Given the description of an element on the screen output the (x, y) to click on. 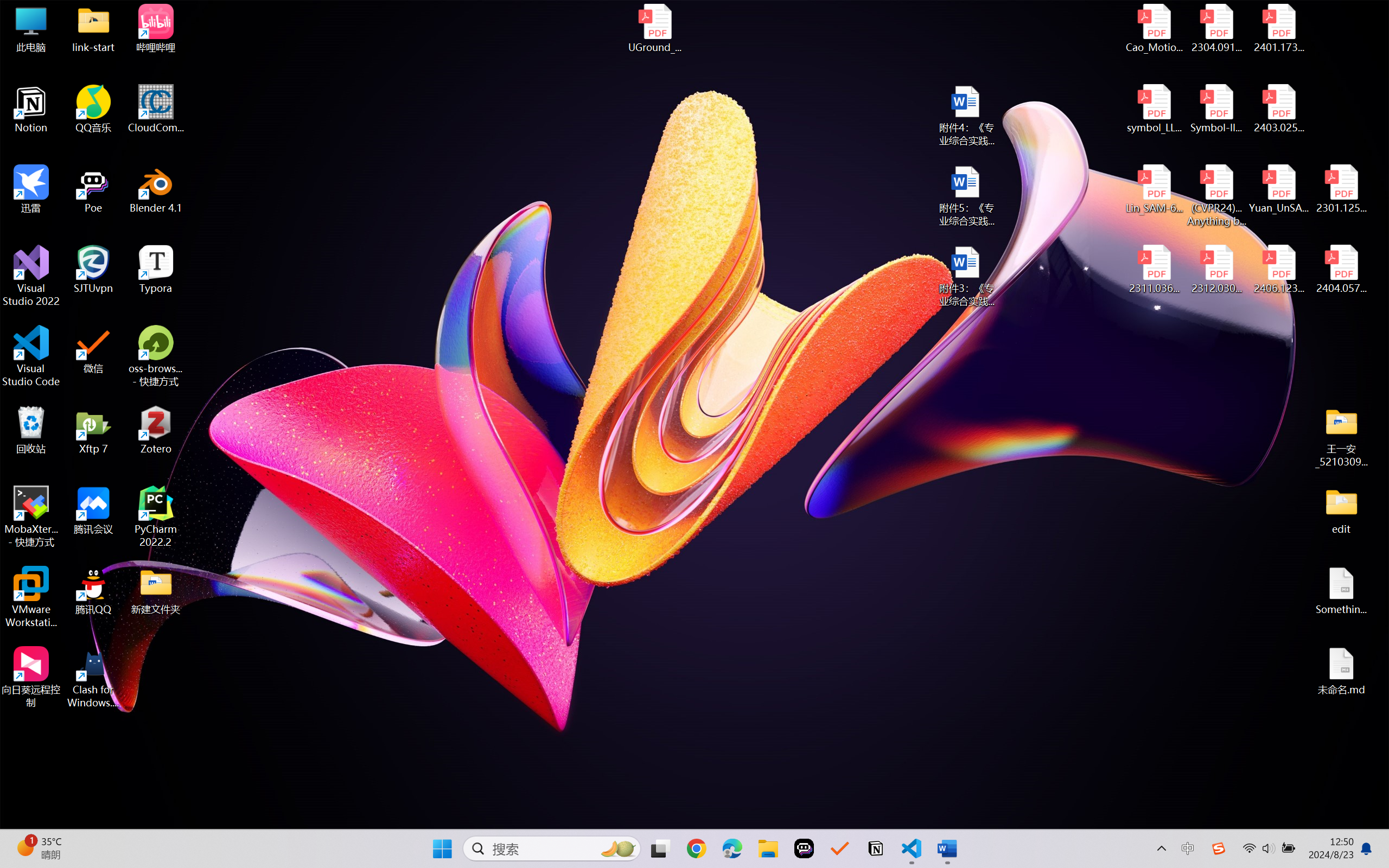
Xftp 7 (93, 430)
Blender 4.1 (156, 189)
2404.05719v1.pdf (1340, 269)
2312.03032v2.pdf (1216, 269)
CloudCompare (156, 109)
Symbol-llm-v2.pdf (1216, 109)
UGround_paper.pdf (654, 28)
2403.02502v1.pdf (1278, 109)
